Given the description of an element on the screen output the (x, y) to click on. 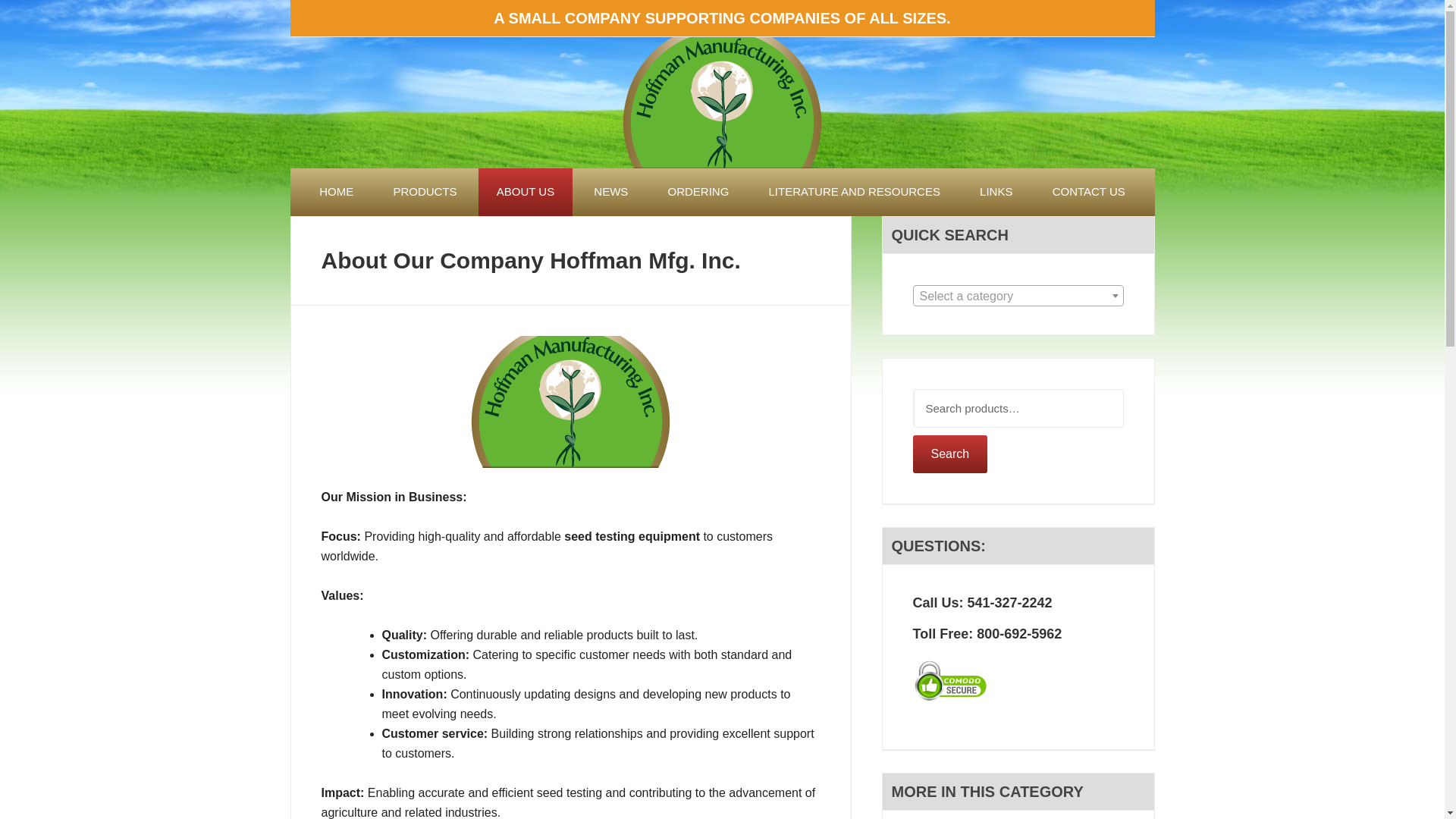
CONTACT US (1087, 192)
LITERATURE AND RESOURCES (854, 192)
LINKS (995, 192)
ORDERING (697, 192)
ABOUT US (525, 192)
NEWS (610, 192)
Search (950, 453)
HOME (336, 192)
PRODUCTS (424, 192)
Hoffman Manufacturing (721, 102)
